Given the description of an element on the screen output the (x, y) to click on. 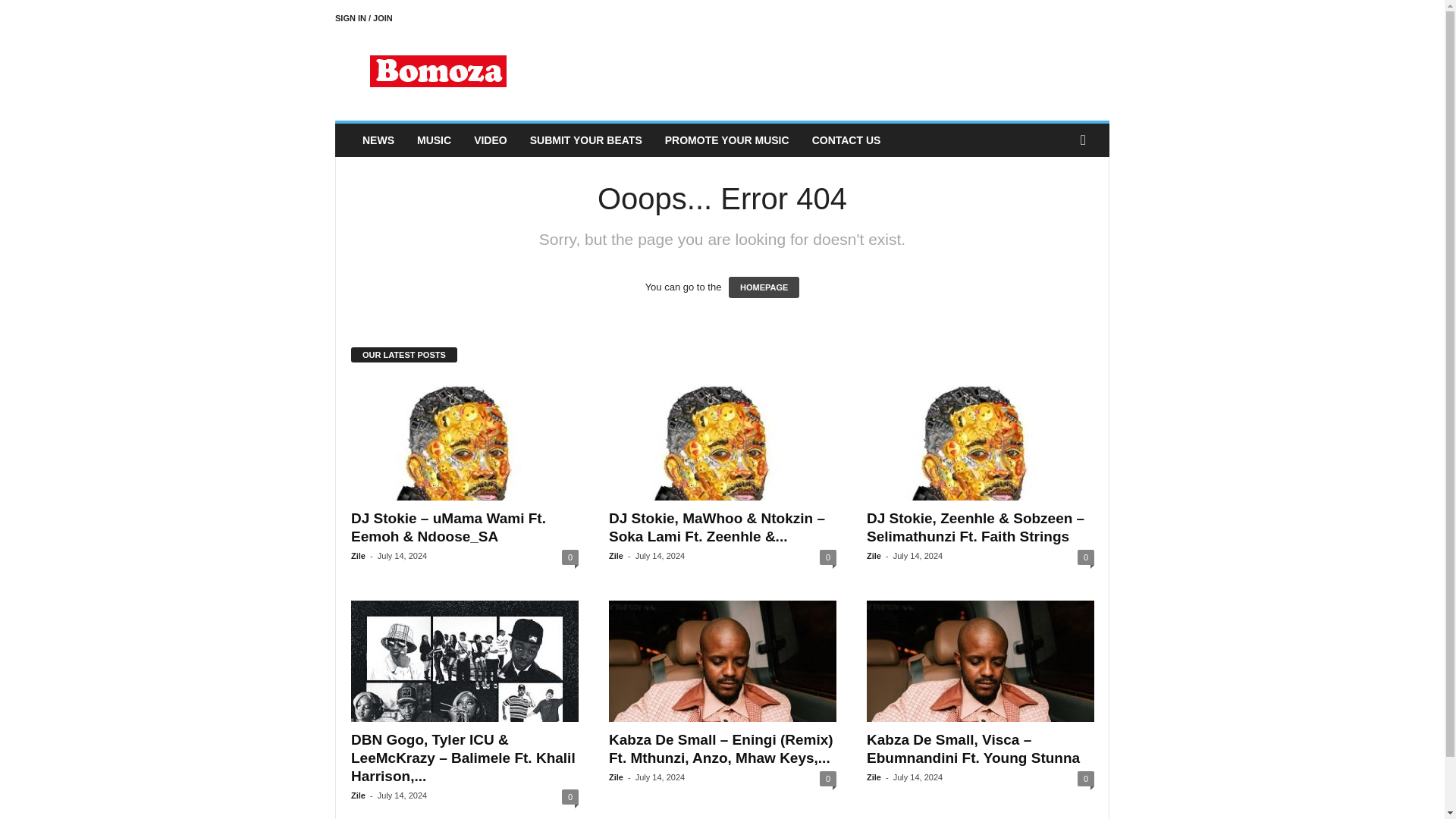
Zile (615, 555)
CONTACT US (846, 140)
Zile (873, 555)
Bomoza (437, 70)
0 (570, 557)
0 (827, 557)
HOMEPAGE (764, 287)
Zile (357, 795)
PROMOTE YOUR MUSIC (726, 140)
0 (1085, 557)
0 (570, 796)
NEWS (378, 140)
SUBMIT YOUR BEATS (585, 140)
VIDEO (490, 140)
MUSIC (434, 140)
